Given the description of an element on the screen output the (x, y) to click on. 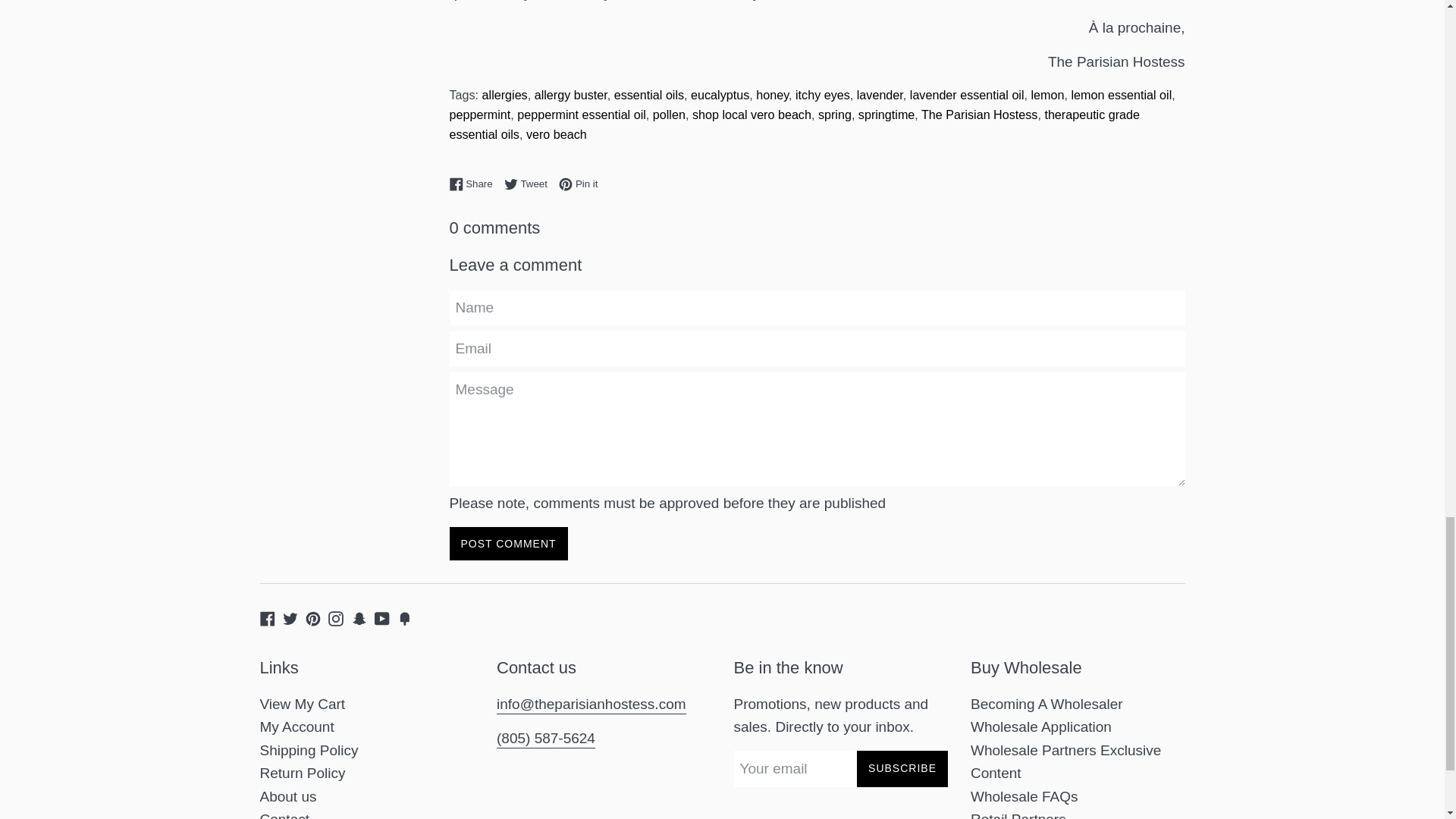
lemon (1047, 94)
The Parisian Hostess on Snapchat (359, 617)
allergies (504, 94)
The Parisian Hostess on YouTube (382, 617)
allergy buster (570, 94)
eucalyptus (719, 94)
lavender essential oil (967, 94)
The Parisian Hostess on Instagram (336, 617)
Post comment (507, 544)
The Parisian Hostess on Twitter (290, 617)
